Given the description of an element on the screen output the (x, y) to click on. 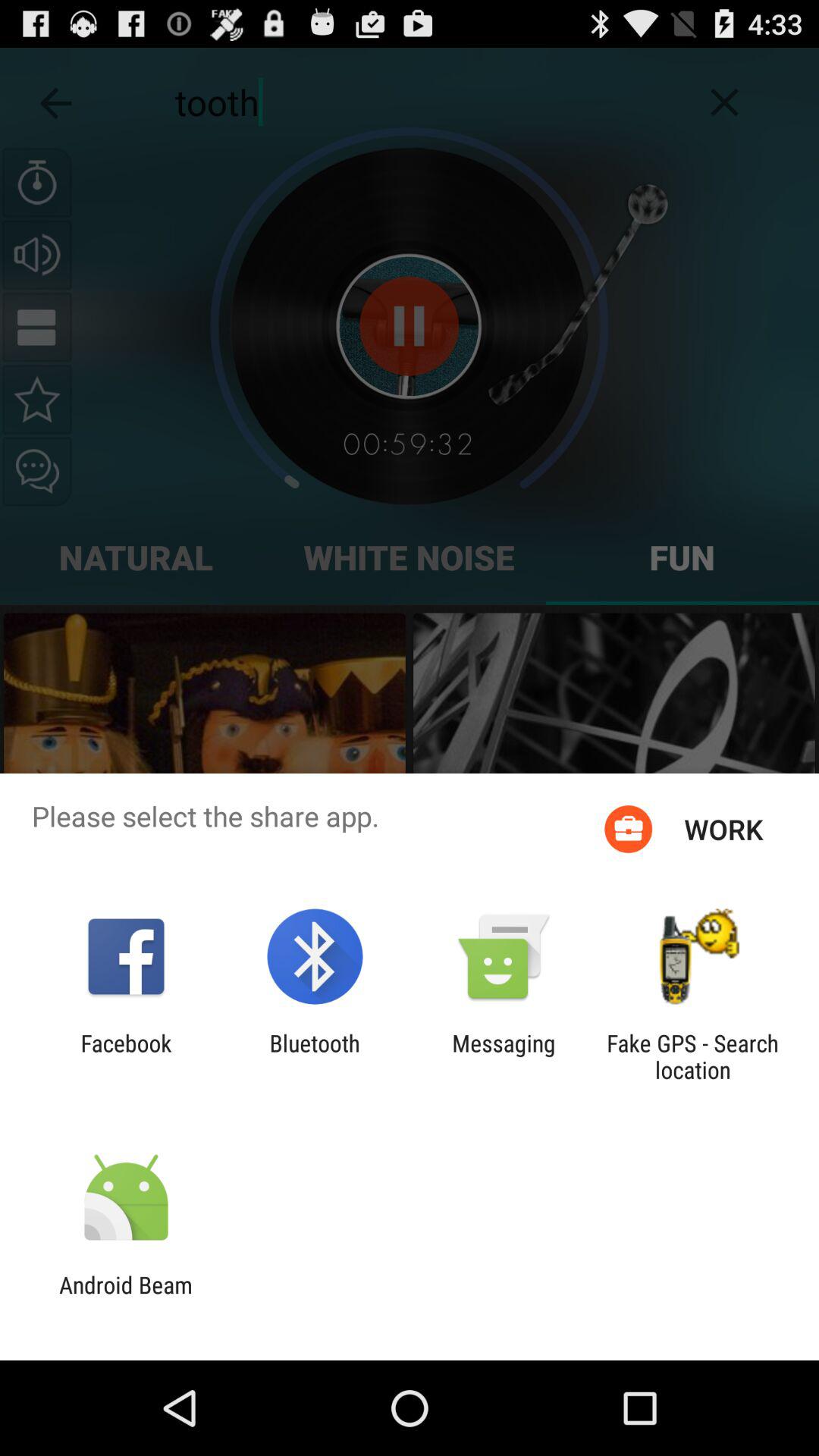
open the item next to the fake gps search item (503, 1056)
